Given the description of an element on the screen output the (x, y) to click on. 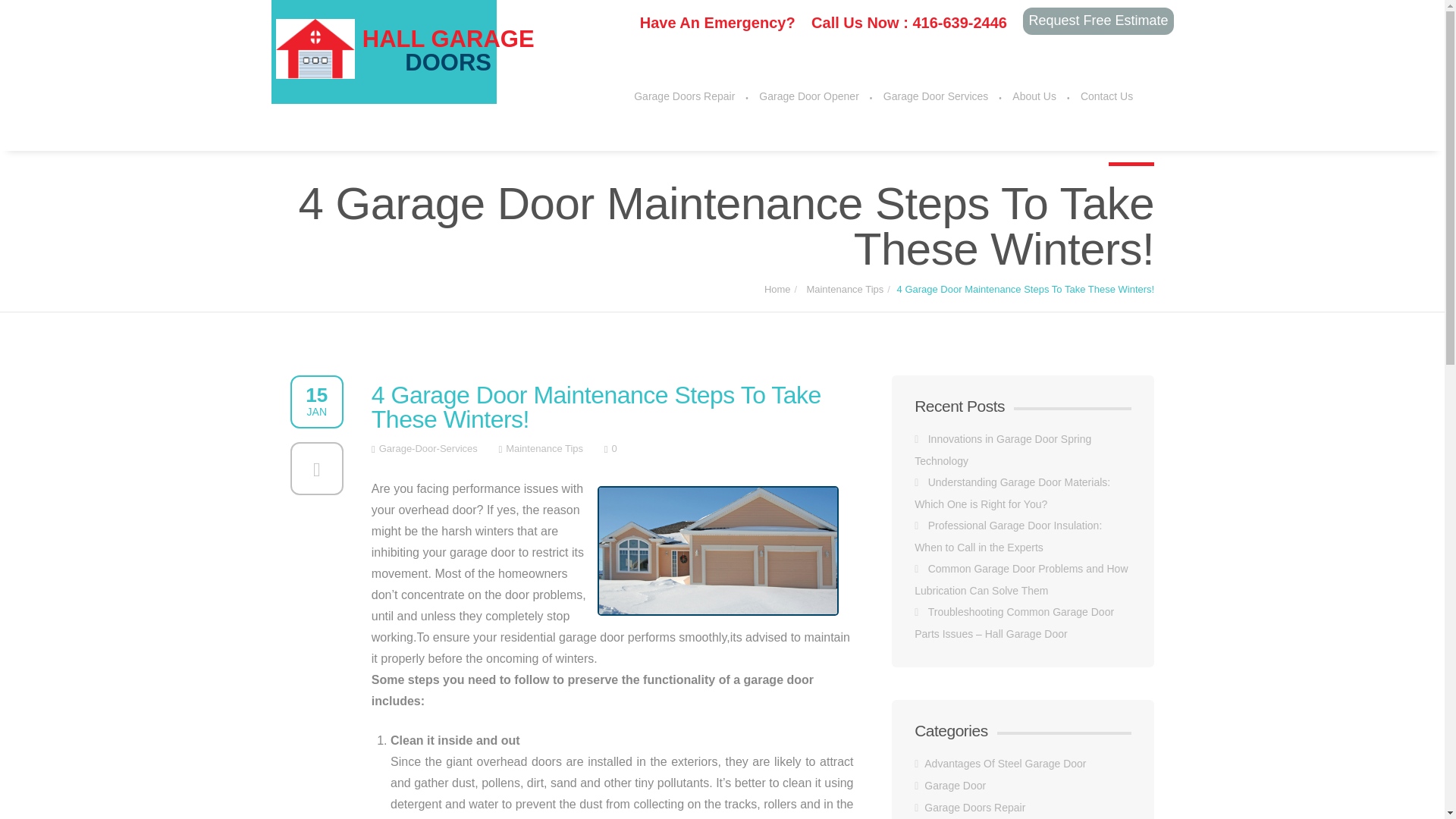
Garage Door (954, 785)
Advantages Of Steel Garage Door (1005, 763)
Contact Us (1106, 96)
Maintenance Tips (544, 447)
Garage Doors Repair (683, 96)
Request Free Estimate (1098, 21)
Innovations in Garage Door Spring Technology (1002, 449)
Garage Doors Repair (974, 807)
4 Garage Door Maintenance Steps To Take These Winters! (612, 403)
Call Us Now : 416-639-2446 (908, 22)
Garage Door Services (935, 96)
4 Garage Door Maintenance Steps To Take These Winters! (1025, 279)
